Given the description of an element on the screen output the (x, y) to click on. 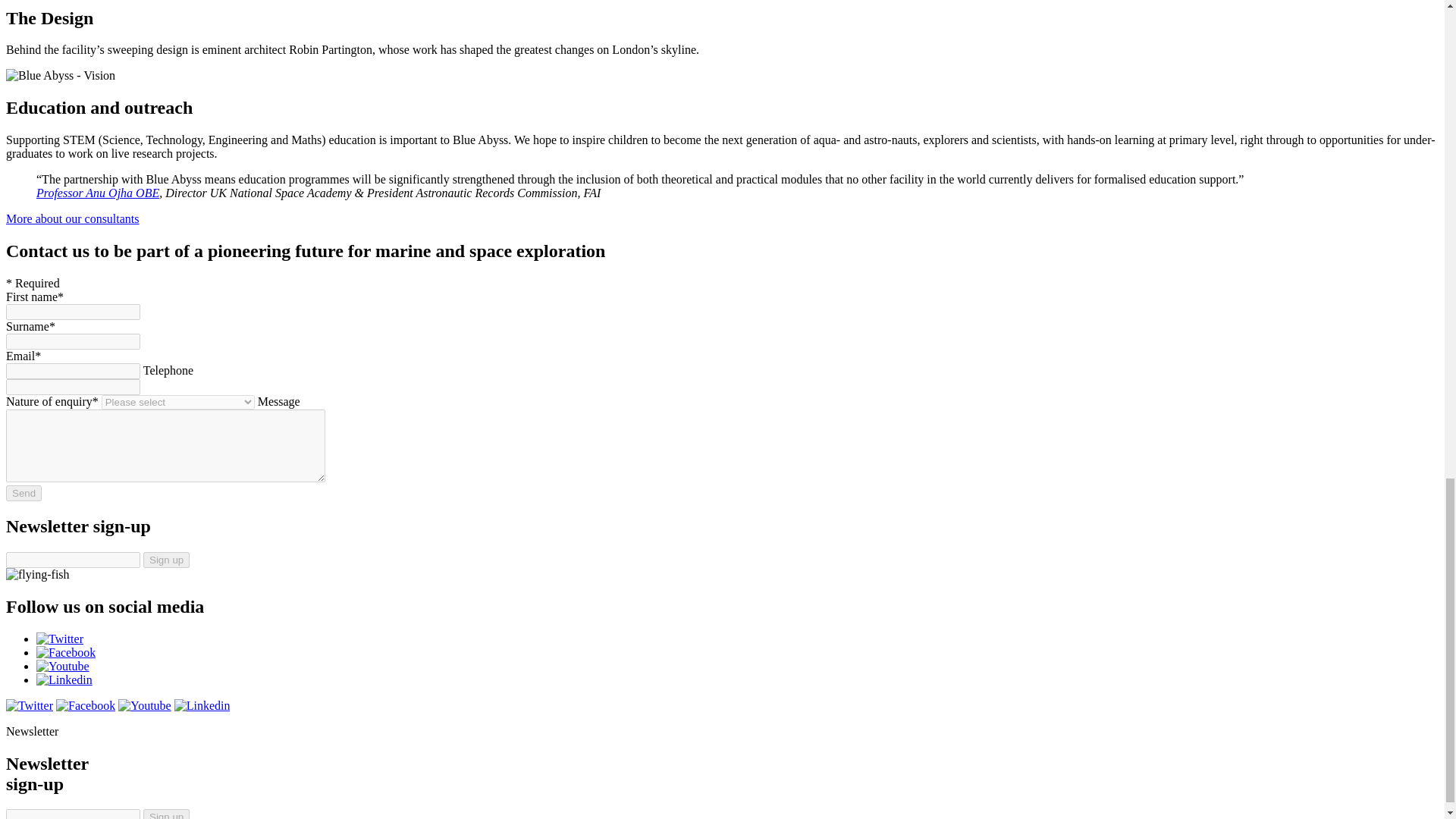
Send (23, 493)
Sign up (165, 560)
Send (23, 493)
More about our consultants (72, 218)
Professor Anu Ojha OBE (97, 192)
Sign up (165, 560)
